Given the description of an element on the screen output the (x, y) to click on. 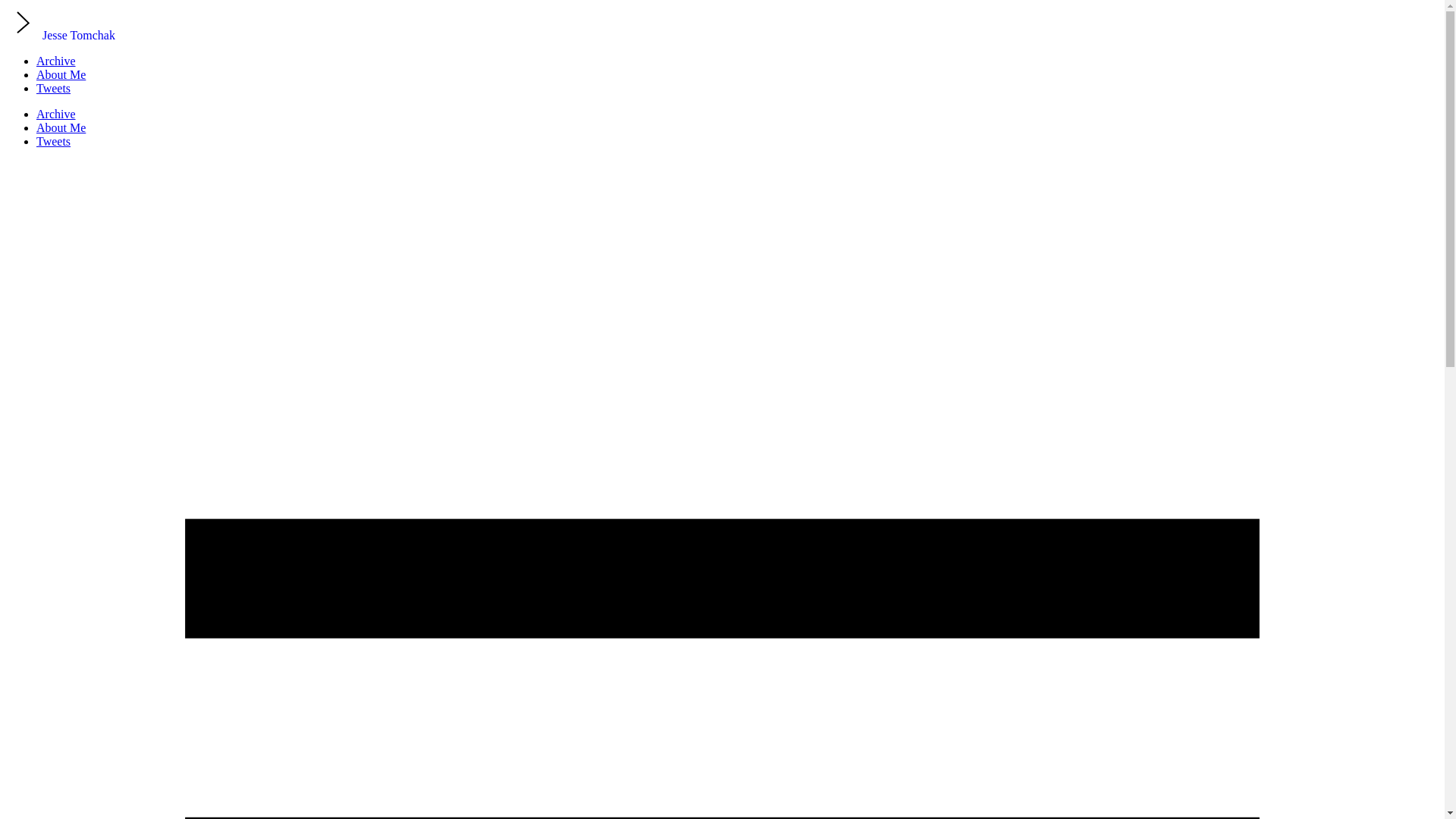
Archive (55, 60)
Tweets (52, 88)
Archive (55, 113)
Tweets (52, 141)
Jesse Tomchak (60, 34)
About Me (60, 74)
About Me (60, 127)
